Given the description of an element on the screen output the (x, y) to click on. 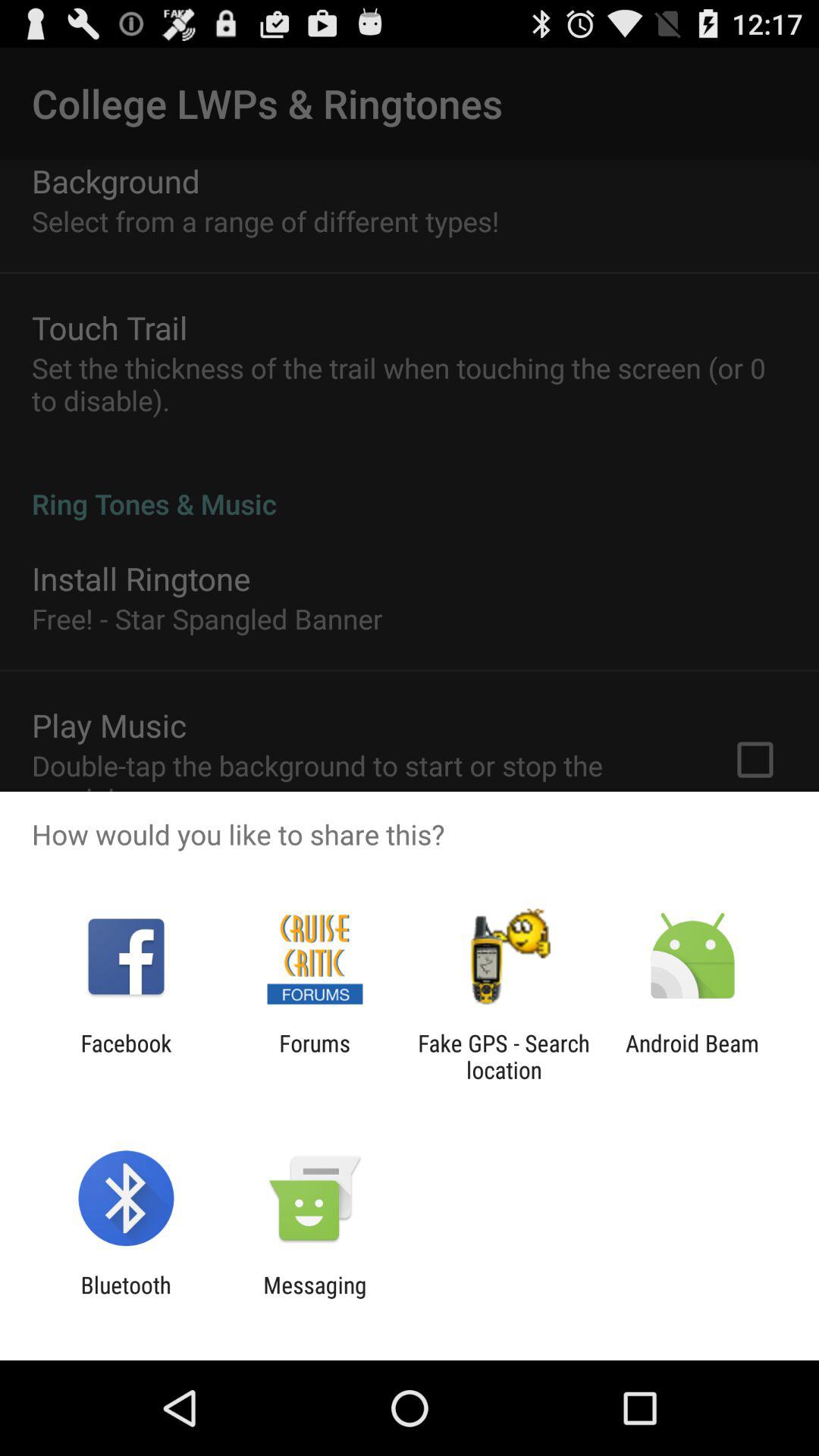
click app to the right of bluetooth app (314, 1298)
